Given the description of an element on the screen output the (x, y) to click on. 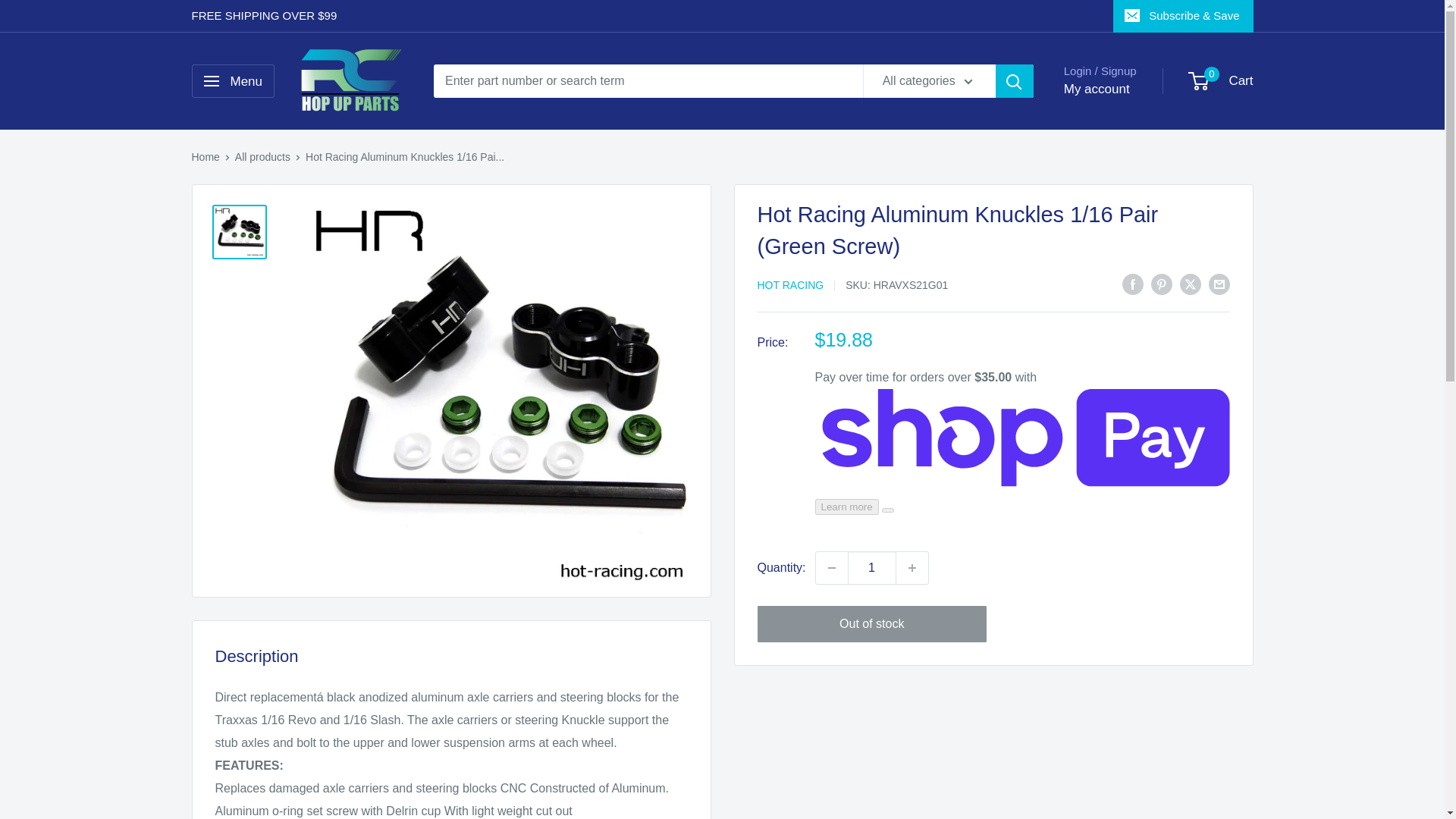
Decrease quantity by 1 (831, 567)
1 (871, 567)
Increase quantity by 1 (912, 567)
